Given the description of an element on the screen output the (x, y) to click on. 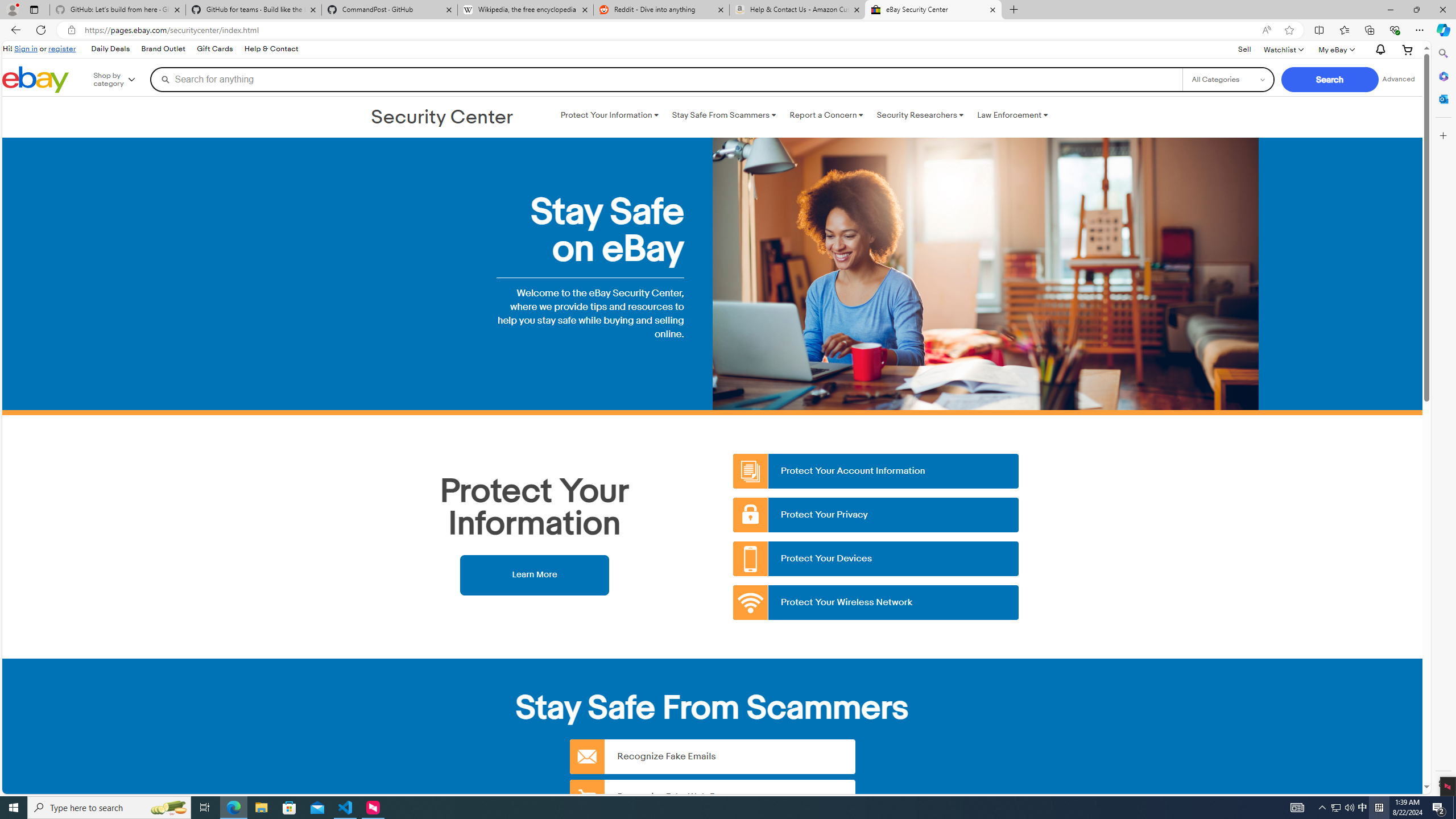
Report a Concern  (826, 115)
Help & Contact (271, 49)
AutomationID: gh-eb-Alerts (1378, 49)
Stay Safe From Scammers  (723, 115)
Gift Cards (214, 49)
eBay Security Center (933, 9)
Expand Cart (1407, 49)
Security Center (442, 117)
Daily Deals (109, 49)
